Given the description of an element on the screen output the (x, y) to click on. 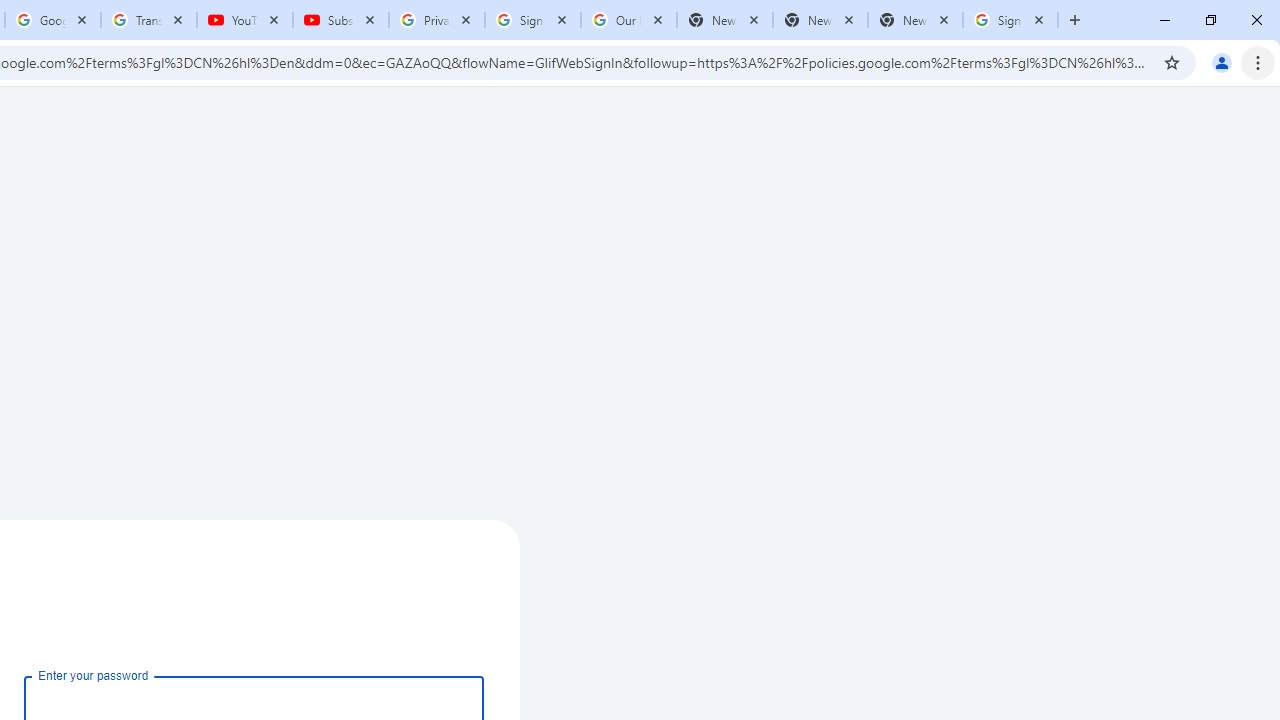
New Tab (914, 20)
Subscriptions - YouTube (341, 20)
Sign in - Google Accounts (1010, 20)
Sign in - Google Accounts (533, 20)
YouTube (245, 20)
